Given the description of an element on the screen output the (x, y) to click on. 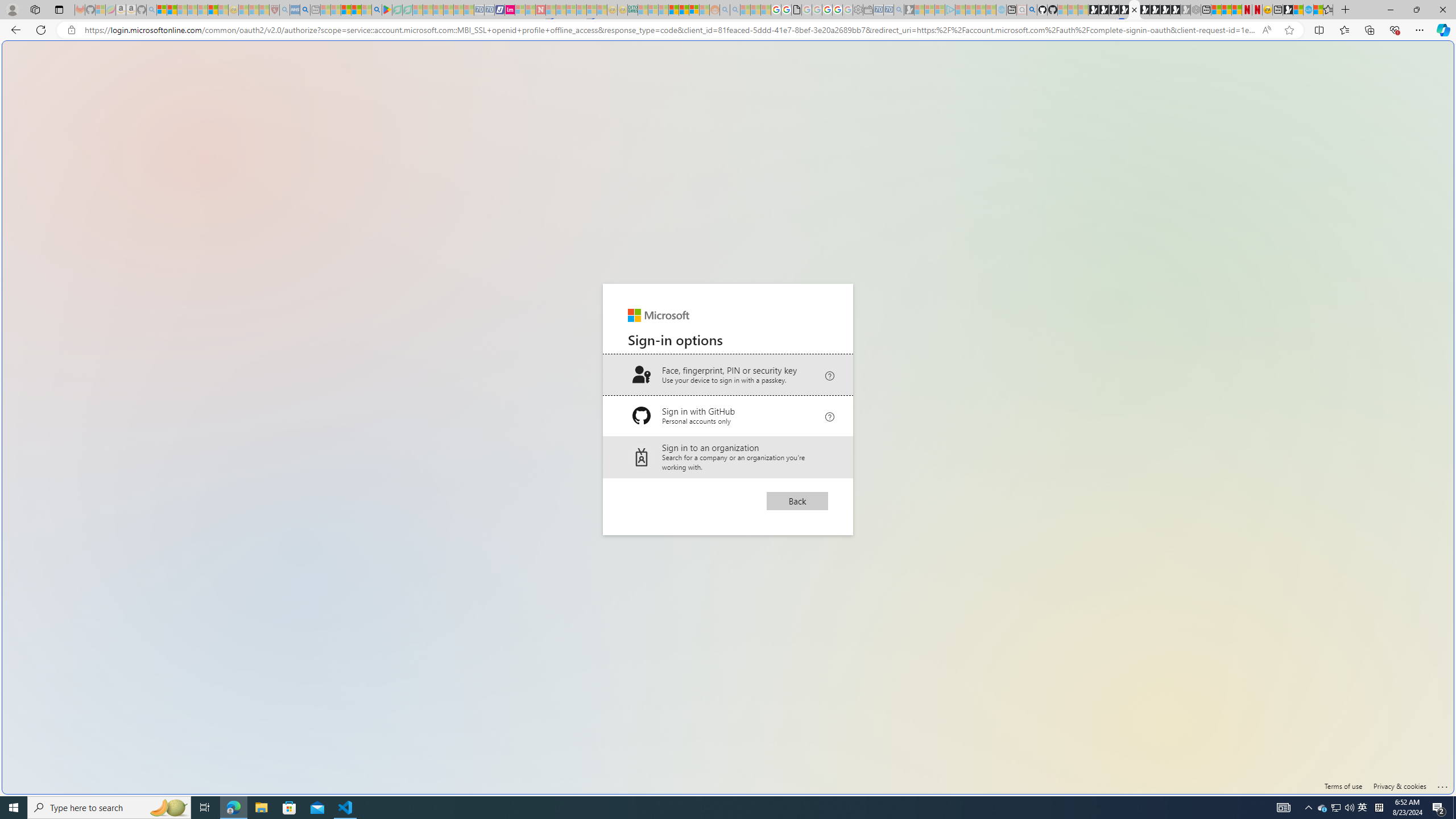
Bluey: Let's Play! - Apps on Google Play (387, 9)
Search or enter web address (922, 108)
Click here for troubleshooting information (1442, 784)
